Given the description of an element on the screen output the (x, y) to click on. 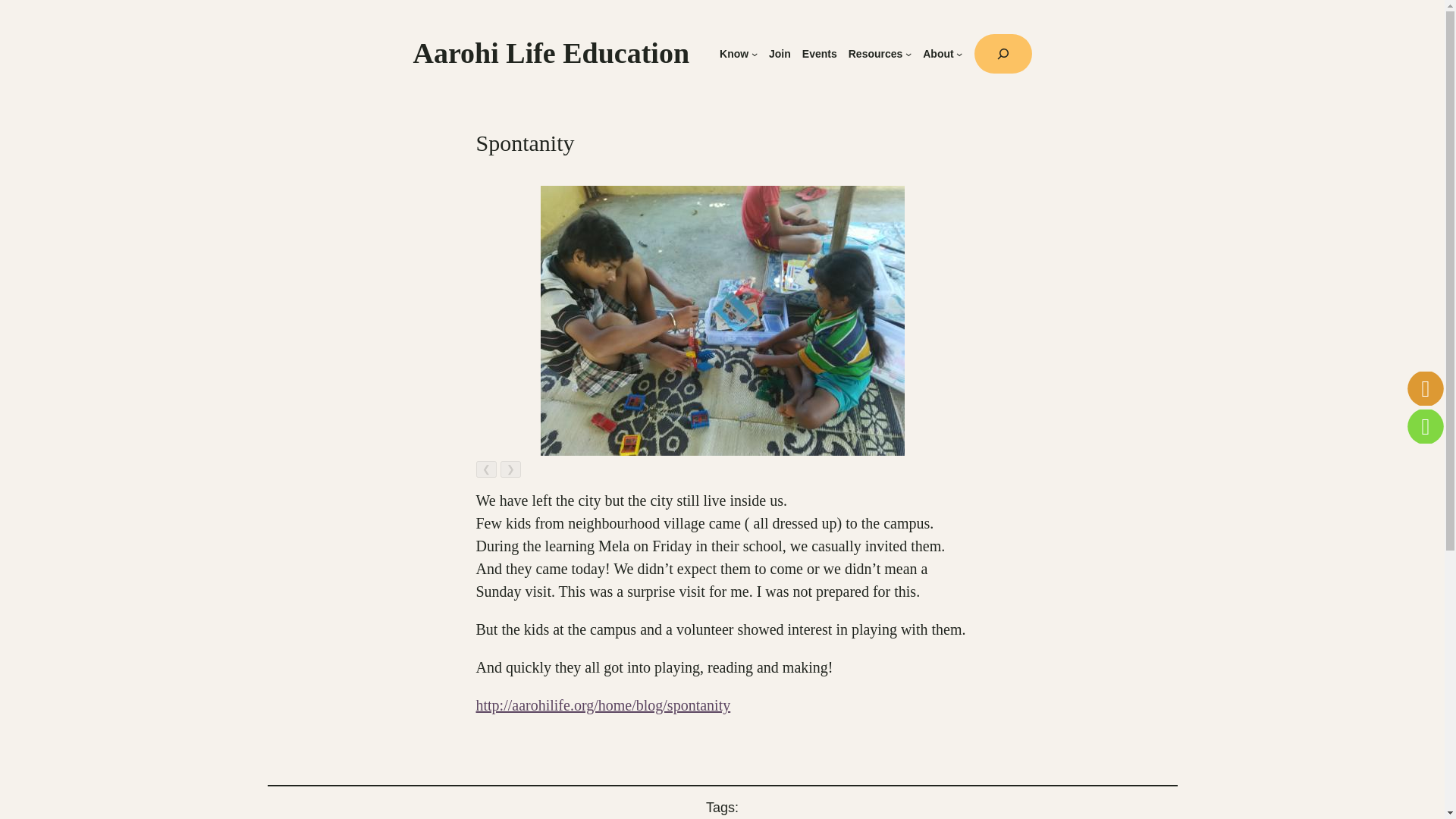
Aarohi Life Education (550, 52)
Events (819, 53)
Join (779, 53)
Resources (875, 53)
Know (733, 53)
About (938, 53)
